Given the description of an element on the screen output the (x, y) to click on. 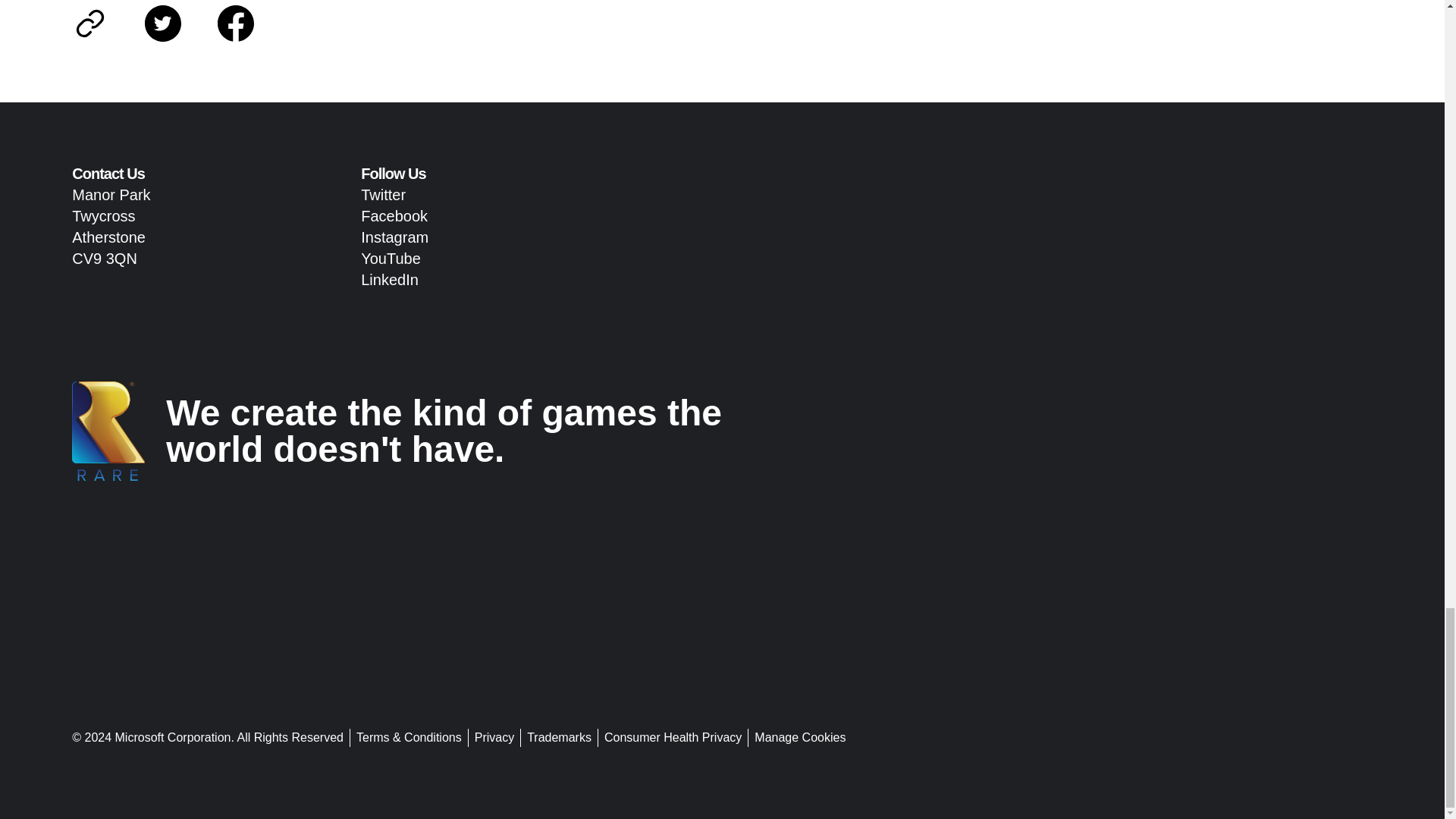
Manage Cookies (799, 737)
Facebook (394, 216)
Trademarks (557, 737)
LinkedIn (390, 279)
Privacy (493, 737)
YouTube (390, 258)
Instagram (394, 237)
Twitter (383, 194)
Consumer Health Privacy (672, 737)
